Given the description of an element on the screen output the (x, y) to click on. 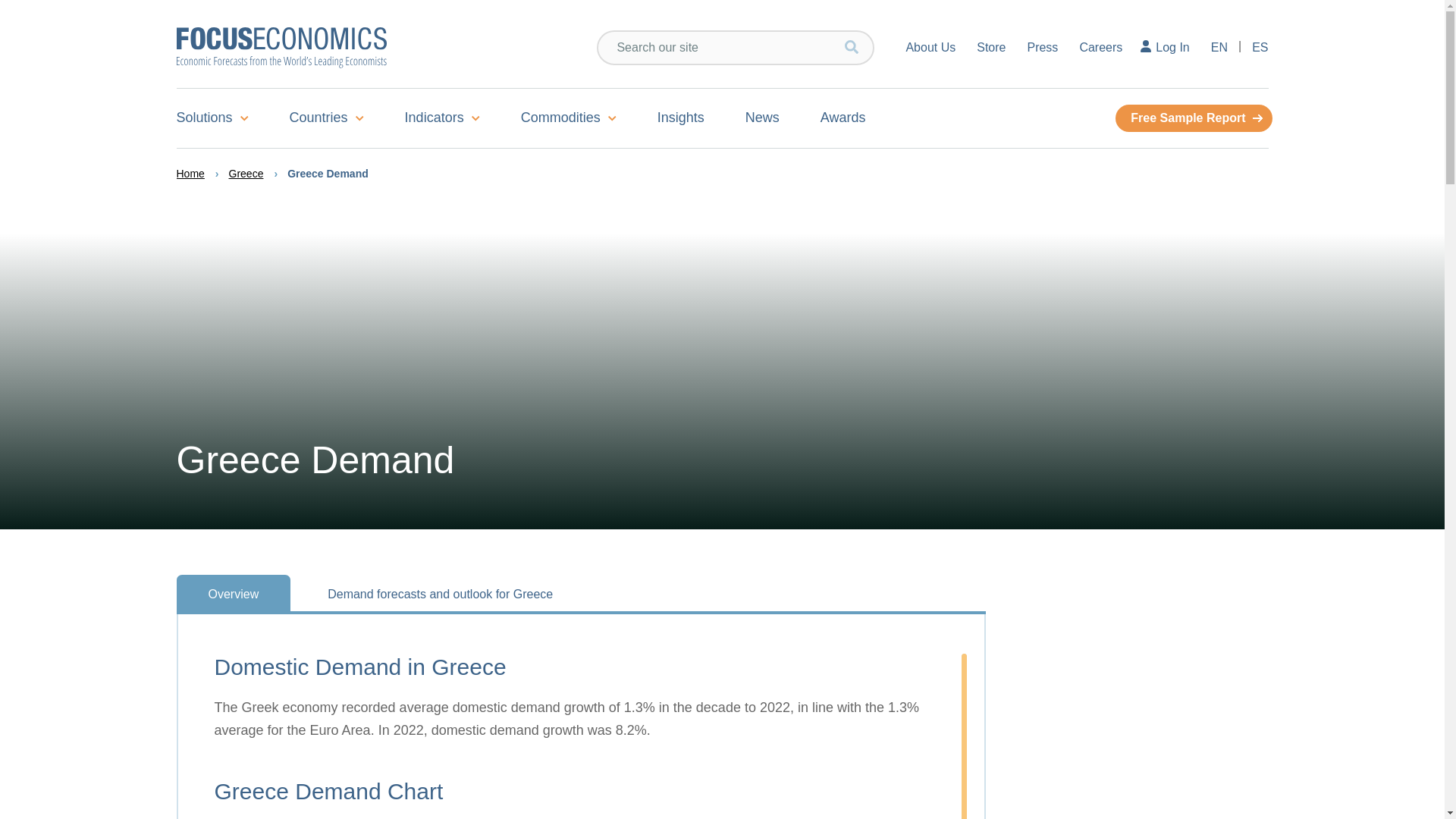
Solutions (221, 118)
Careers (1100, 47)
Log In (1165, 47)
Press (1042, 47)
Solutions (221, 118)
EN (1219, 47)
Countries (326, 118)
ES (1254, 47)
Store (991, 47)
Countries (326, 118)
